Given the description of an element on the screen output the (x, y) to click on. 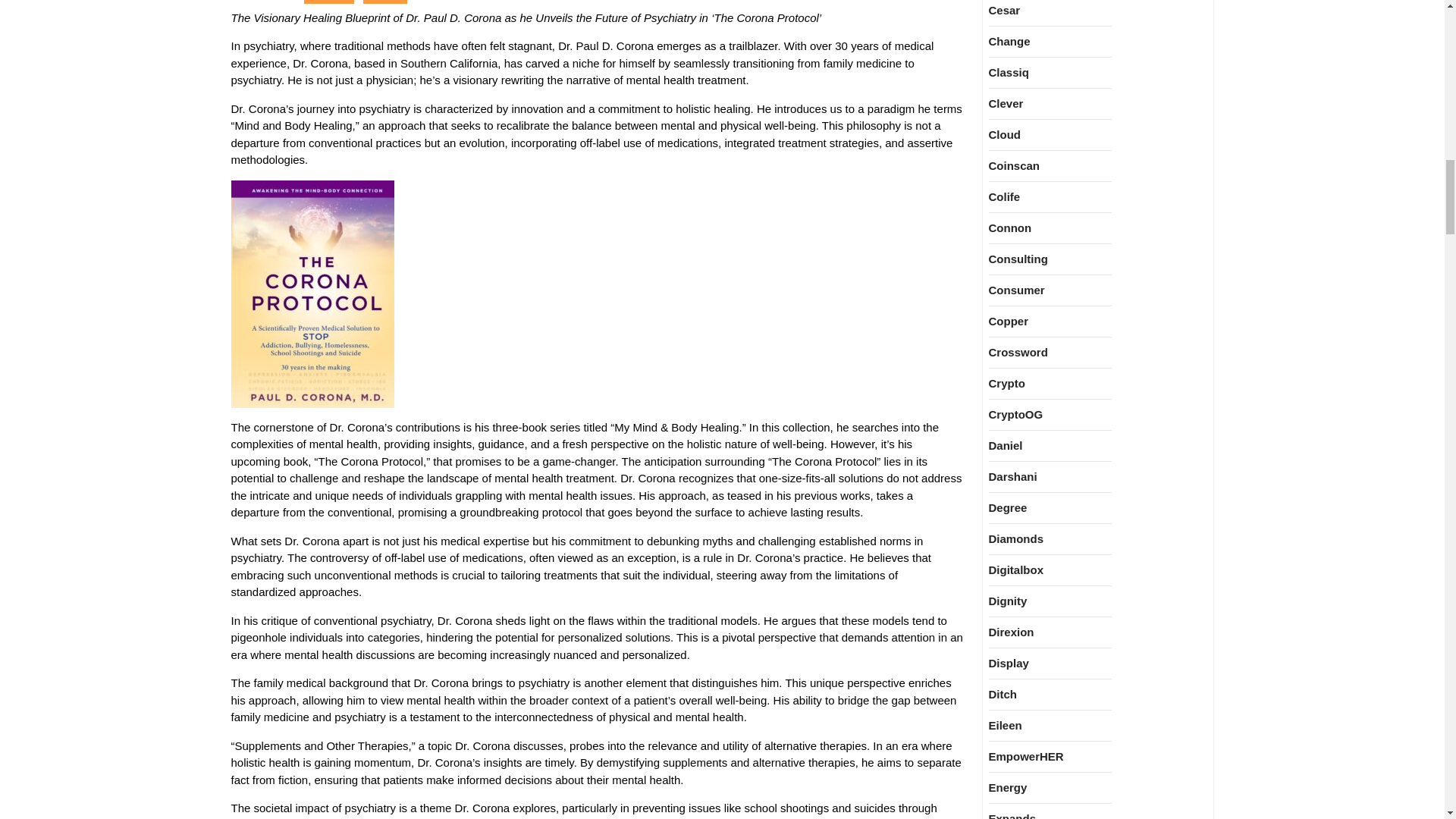
Health (384, 2)
General (328, 2)
